Given the description of an element on the screen output the (x, y) to click on. 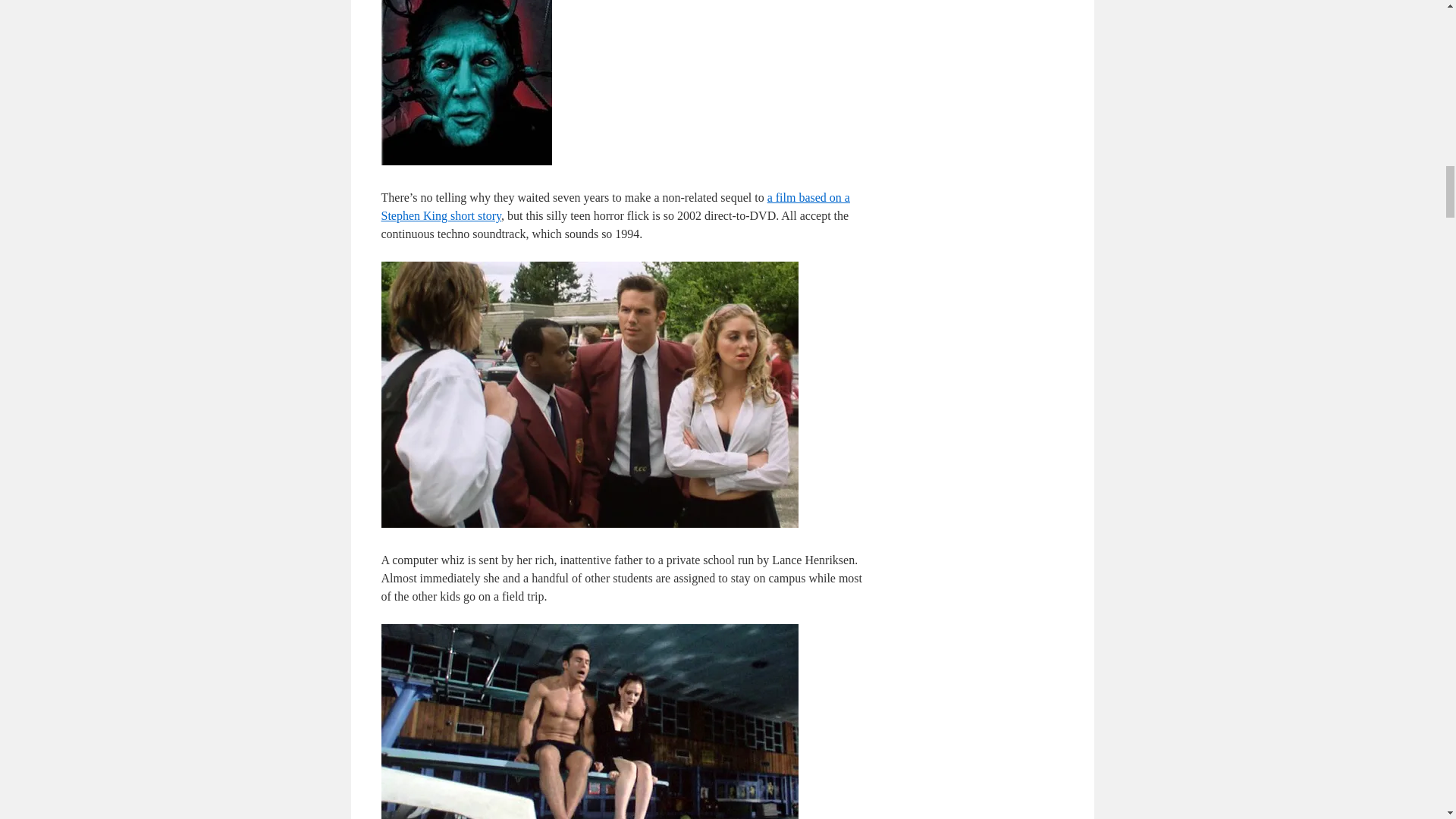
a film based on a Stephen King short story (614, 205)
